Given the description of an element on the screen output the (x, y) to click on. 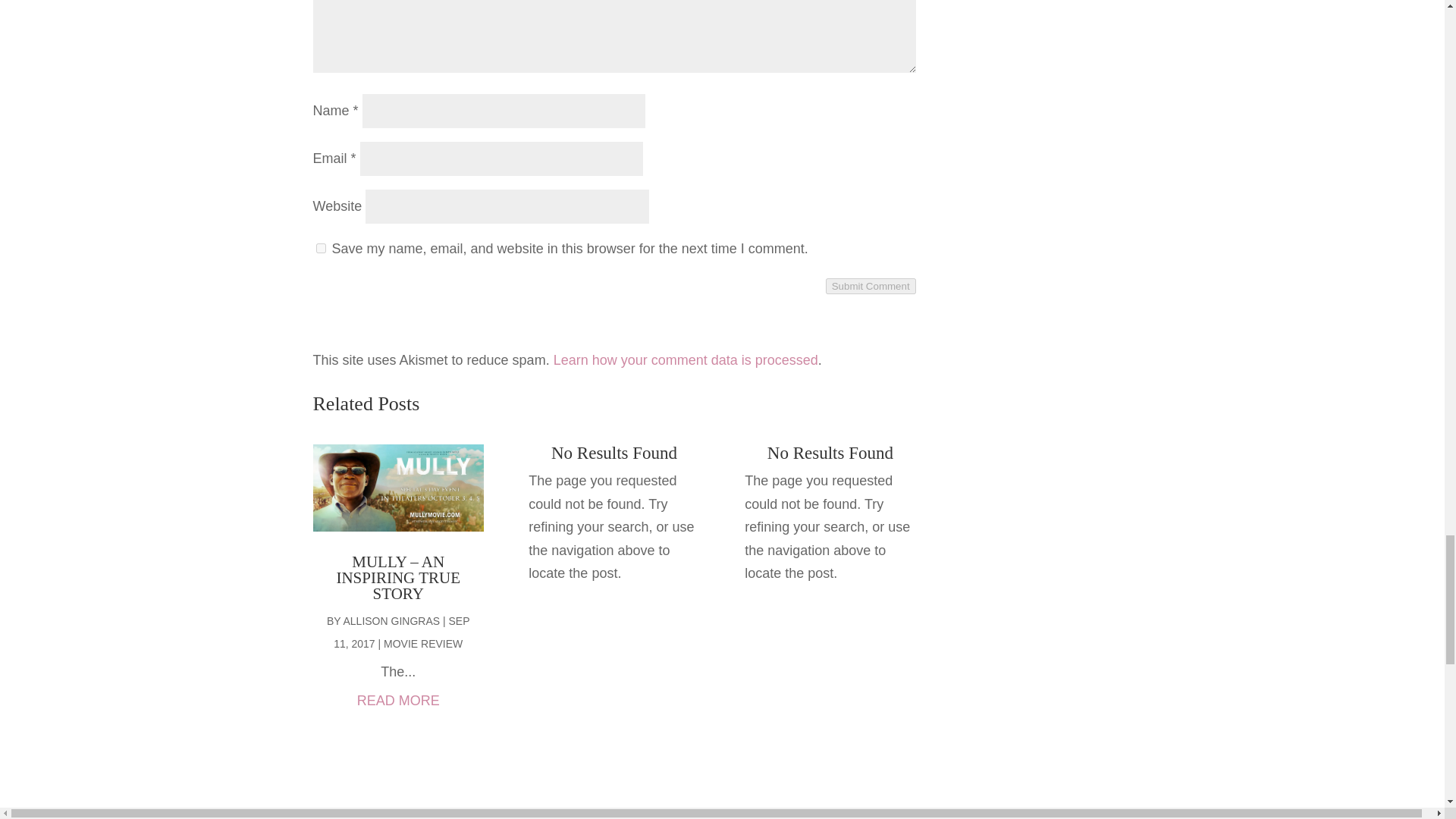
Learn how your comment data is processed (685, 359)
yes (319, 248)
MOVIE REVIEW (423, 644)
READ MORE (398, 700)
ALLISON GINGRAS (390, 621)
Submit Comment (870, 286)
Posts by Allison Gingras (390, 621)
